Given the description of an element on the screen output the (x, y) to click on. 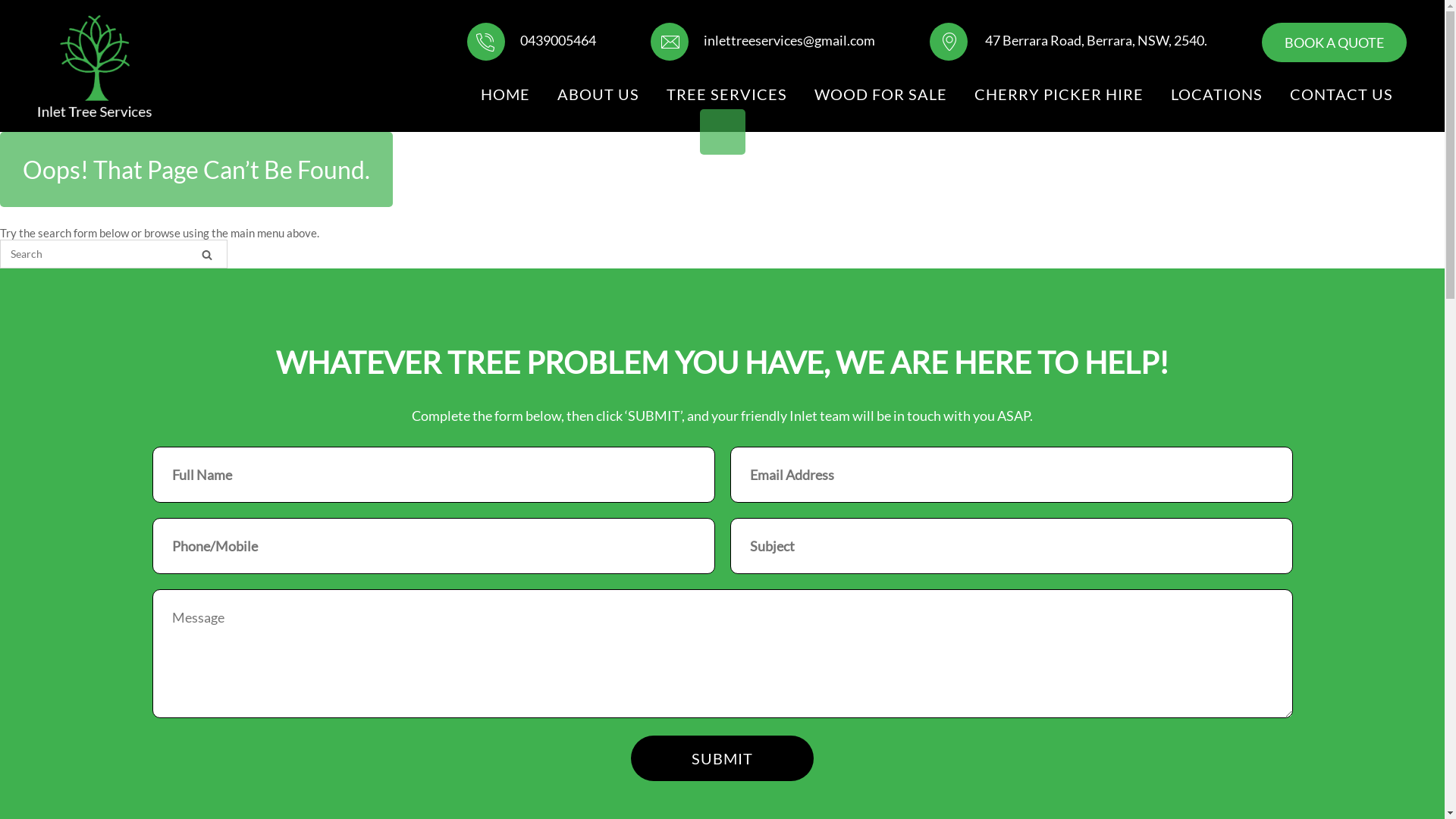
0439005464 Element type: text (531, 39)
inlettreeservices@gmail.com Element type: text (762, 39)
47 Berrara Road, Berrara, NSW, 2540. Element type: text (1068, 39)
WOOD FOR SALE Element type: text (880, 93)
CONTACT US Element type: text (1341, 93)
ABOUT US Element type: text (597, 93)
HOME Element type: text (505, 93)
TREE SERVICES Element type: text (726, 93)
CHERRY PICKER HIRE Element type: text (1058, 93)
LOCATIONS Element type: text (1216, 93)
Submit Element type: text (721, 758)
BOOK A QUOTE Element type: text (1333, 42)
